Given the description of an element on the screen output the (x, y) to click on. 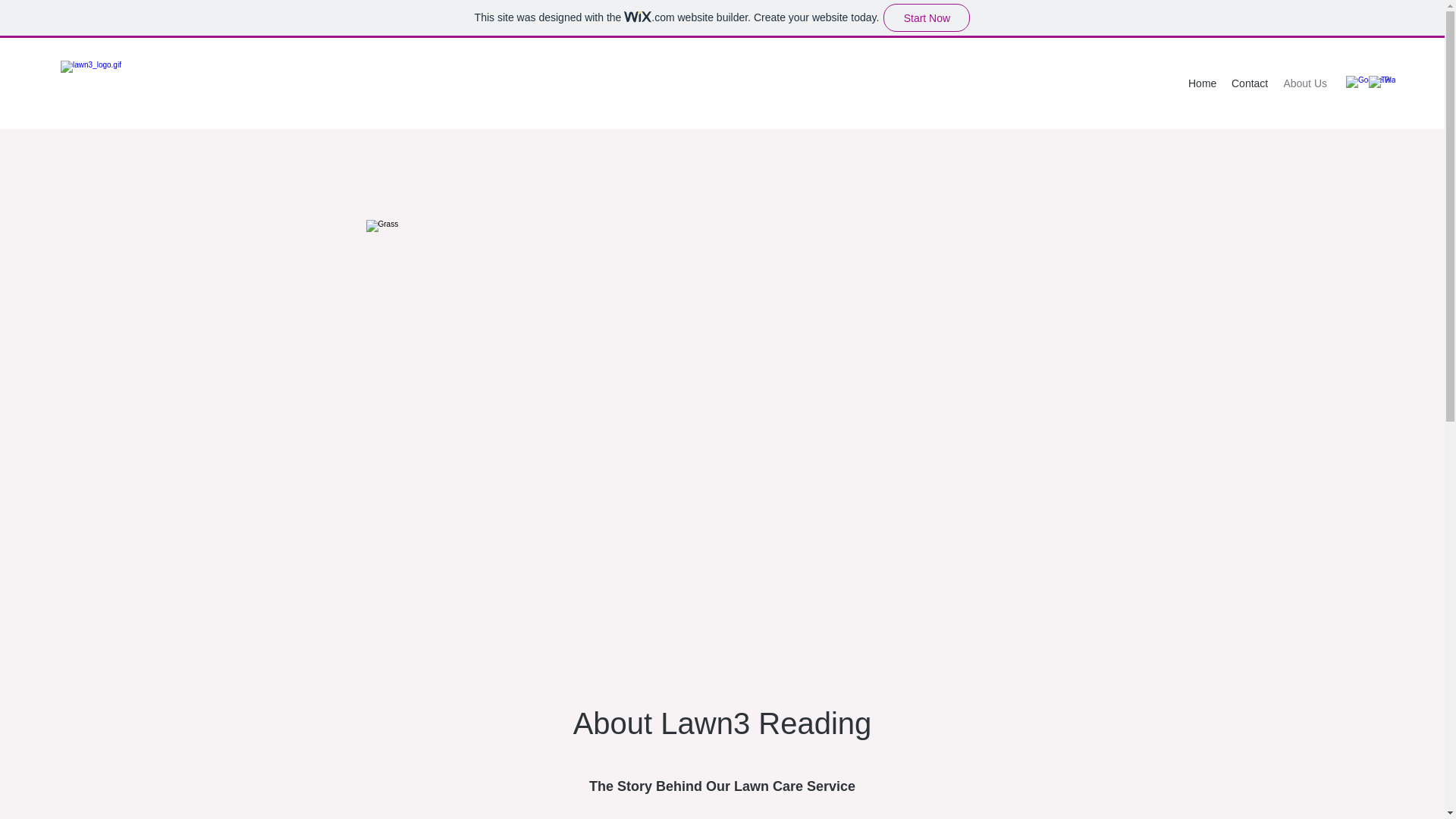
Home (1202, 83)
Contact (1249, 83)
About Us (1305, 83)
